Given the description of an element on the screen output the (x, y) to click on. 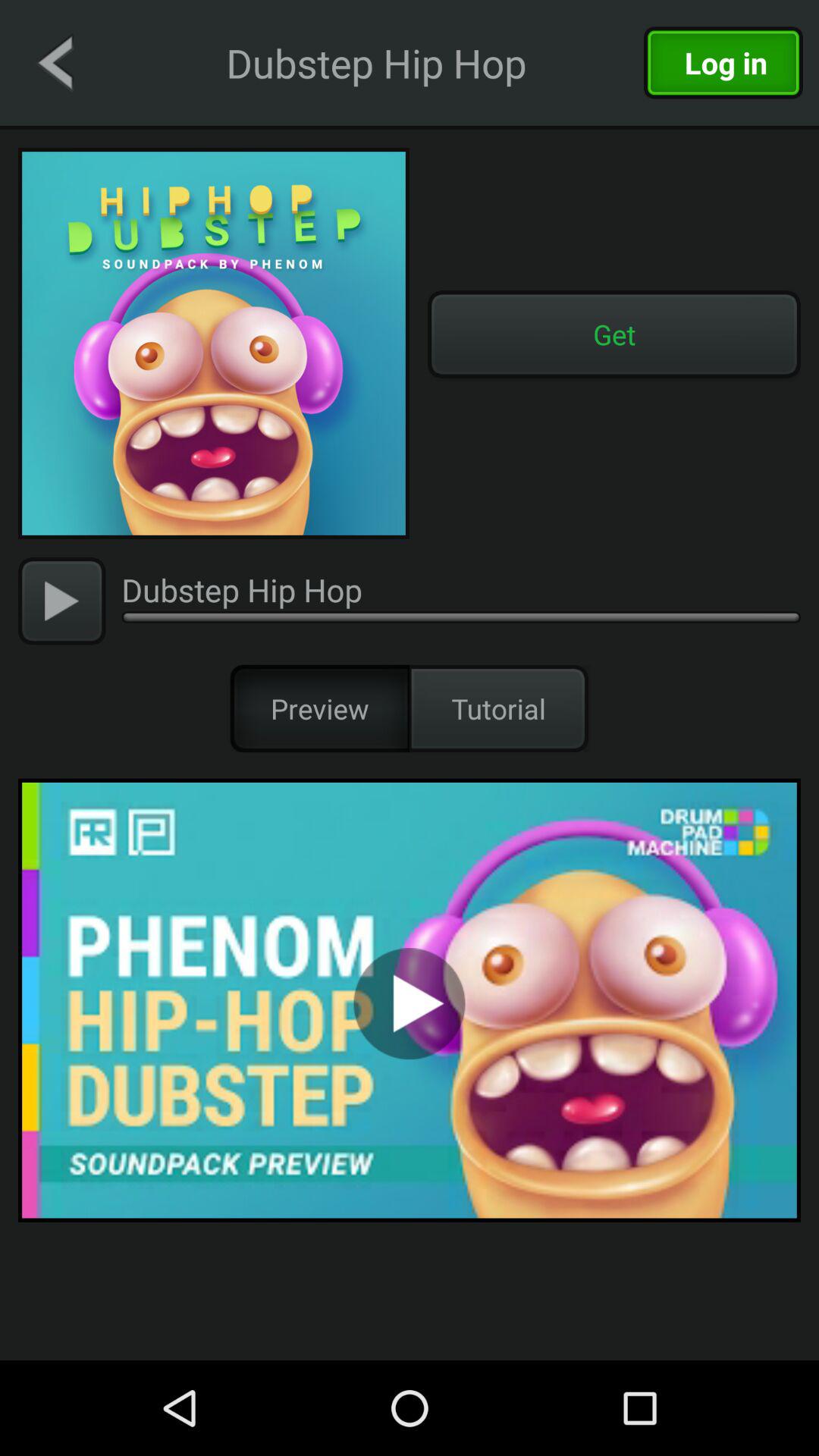
choose button next to the get item (213, 343)
